Given the description of an element on the screen output the (x, y) to click on. 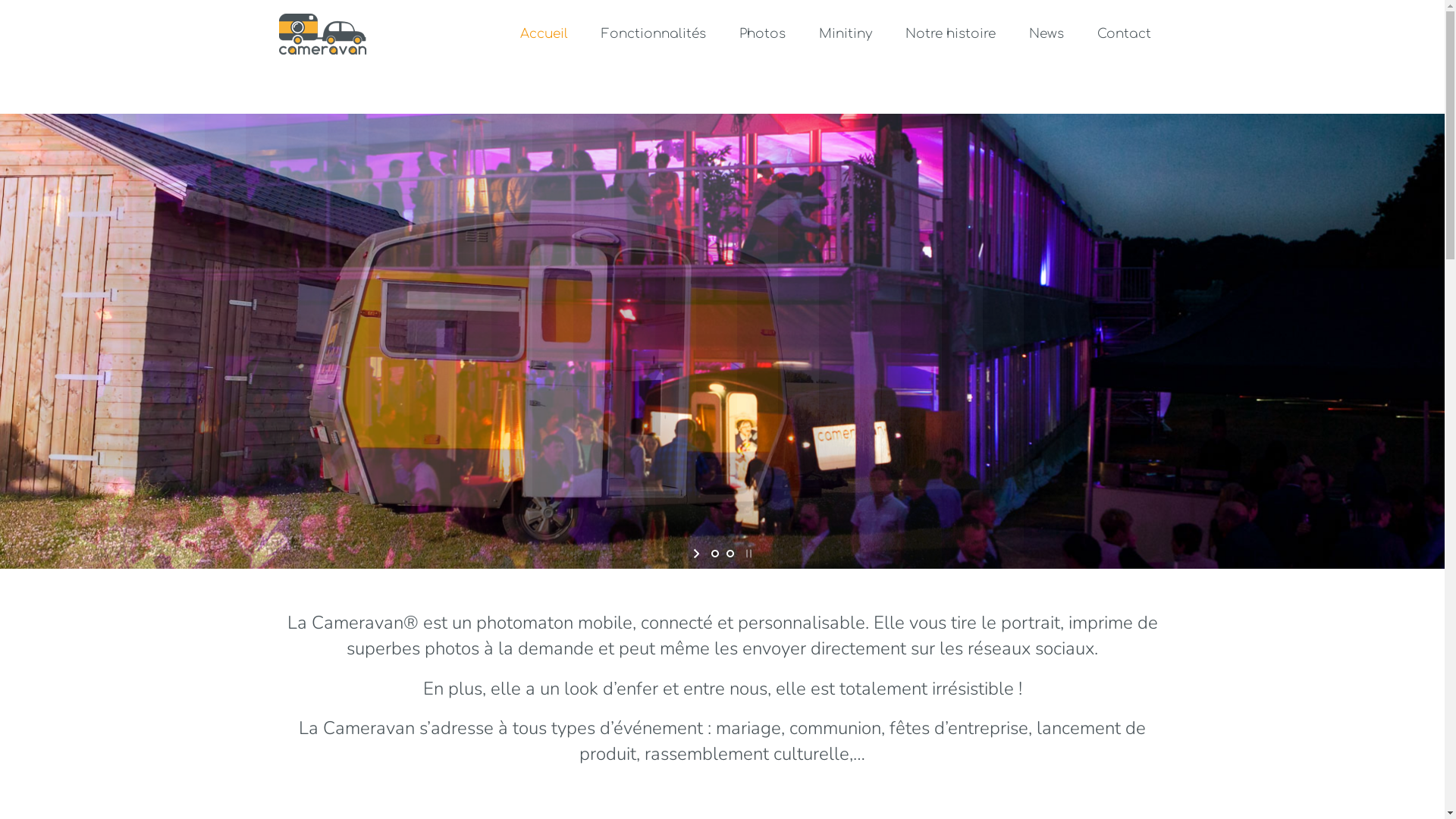
Notre histoire Element type: text (950, 34)
Photos Element type: text (761, 34)
Minitiny Element type: text (845, 34)
Accueil Element type: text (544, 34)
News Element type: text (1045, 34)
Contact Element type: text (1123, 34)
